Given the description of an element on the screen output the (x, y) to click on. 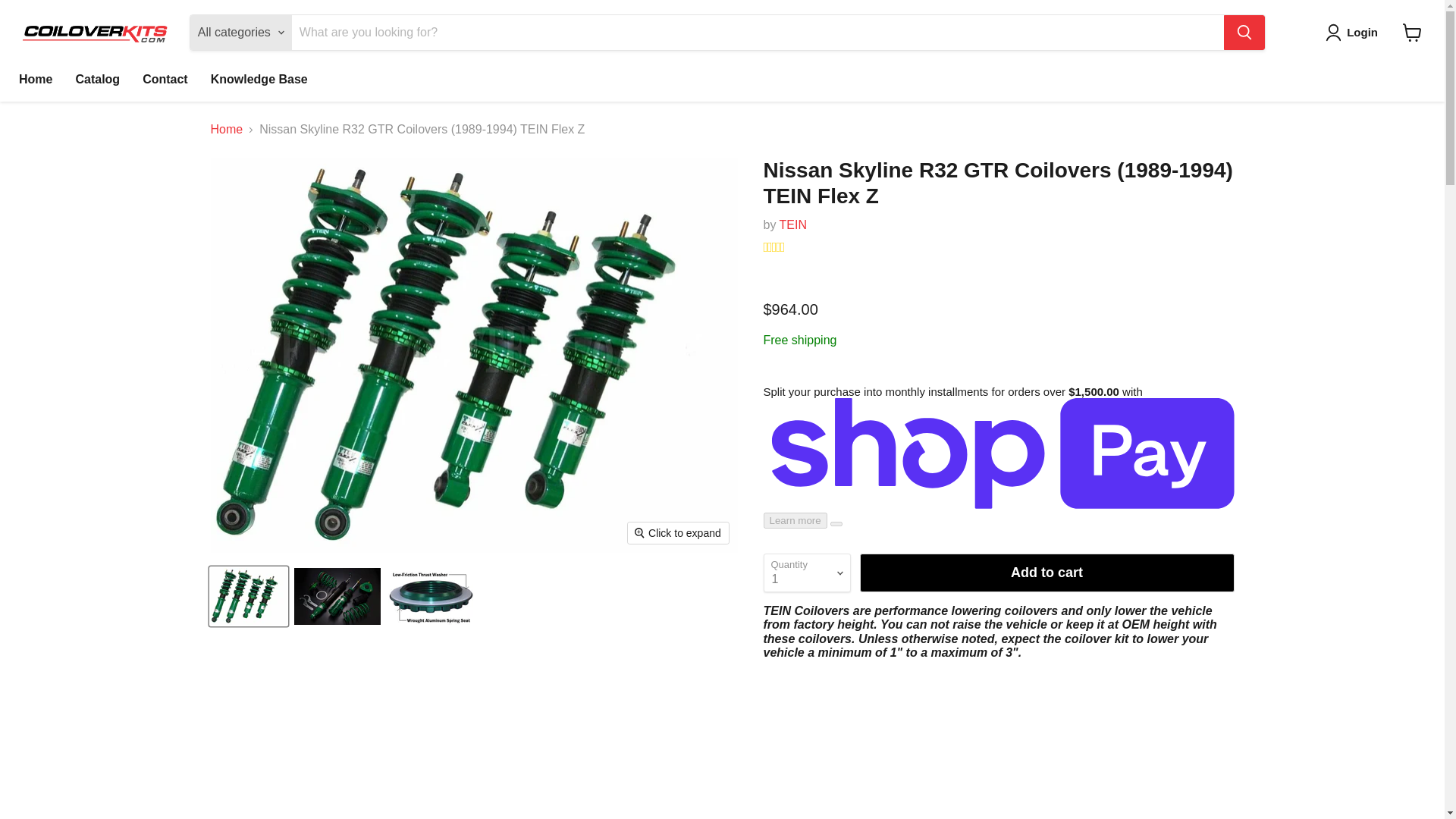
Login (1362, 32)
TEIN (792, 224)
Add to cart (1047, 572)
Catalog (97, 79)
Click to expand (678, 532)
Home (35, 79)
Home (227, 129)
TEIN (792, 224)
Knowledge Base (258, 79)
Contact (165, 79)
YouTube video player (997, 745)
View cart (1411, 32)
